Given the description of an element on the screen output the (x, y) to click on. 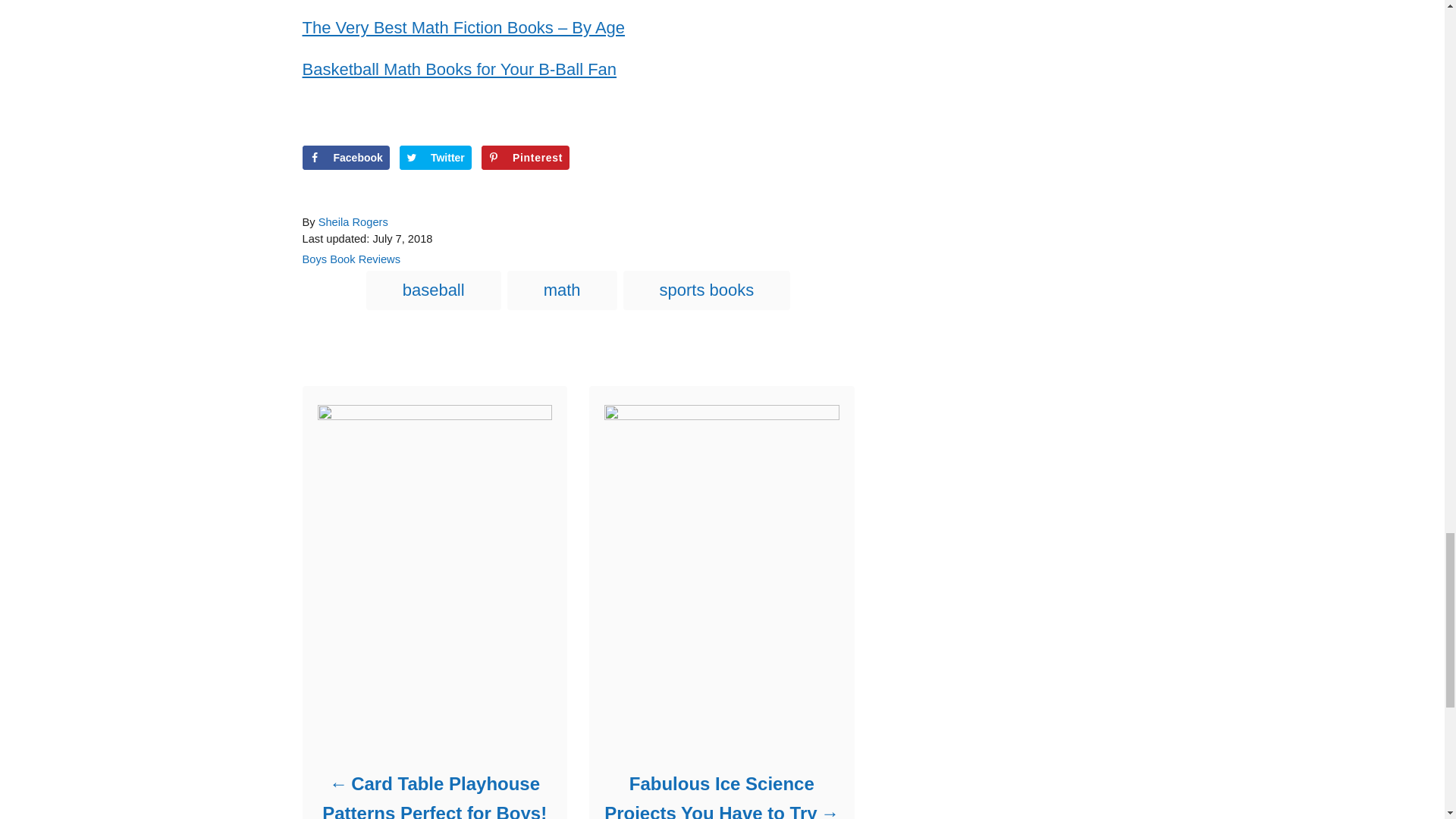
Share on Facebook (344, 157)
Card Table Playhouse Patterns Perfect for Boys! (434, 794)
Boys Book Reviews (350, 259)
Facebook (344, 157)
Pinterest (525, 157)
Basketball Math Books for Your B-Ball Fan (458, 68)
Sheila Rogers (353, 222)
Twitter (434, 157)
math (561, 290)
Share on Twitter (434, 157)
baseball (433, 290)
sports books (706, 290)
